Given the description of an element on the screen output the (x, y) to click on. 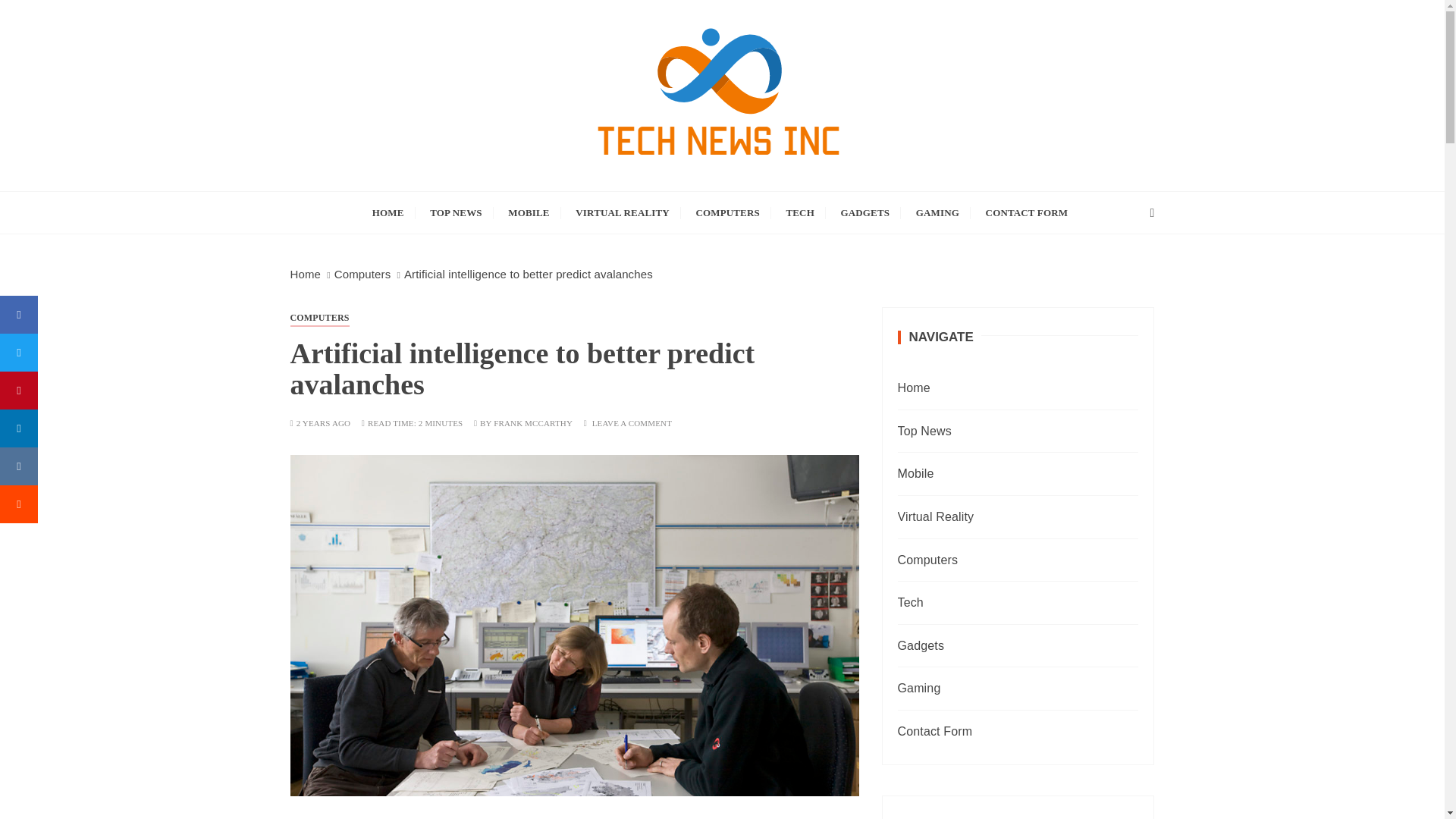
LEAVE A COMMENT (631, 423)
TOP NEWS (456, 212)
GAMING (937, 212)
Tech News Inc (412, 201)
Artificial intelligence to better predict avalanches (528, 273)
TECH (799, 212)
GADGETS (865, 212)
VIRTUAL REALITY (622, 212)
COMPUTERS (727, 212)
HOME (387, 212)
COMPUTERS (319, 317)
Computers (362, 273)
FRANK MCCARTHY (532, 423)
Home (304, 273)
